Given the description of an element on the screen output the (x, y) to click on. 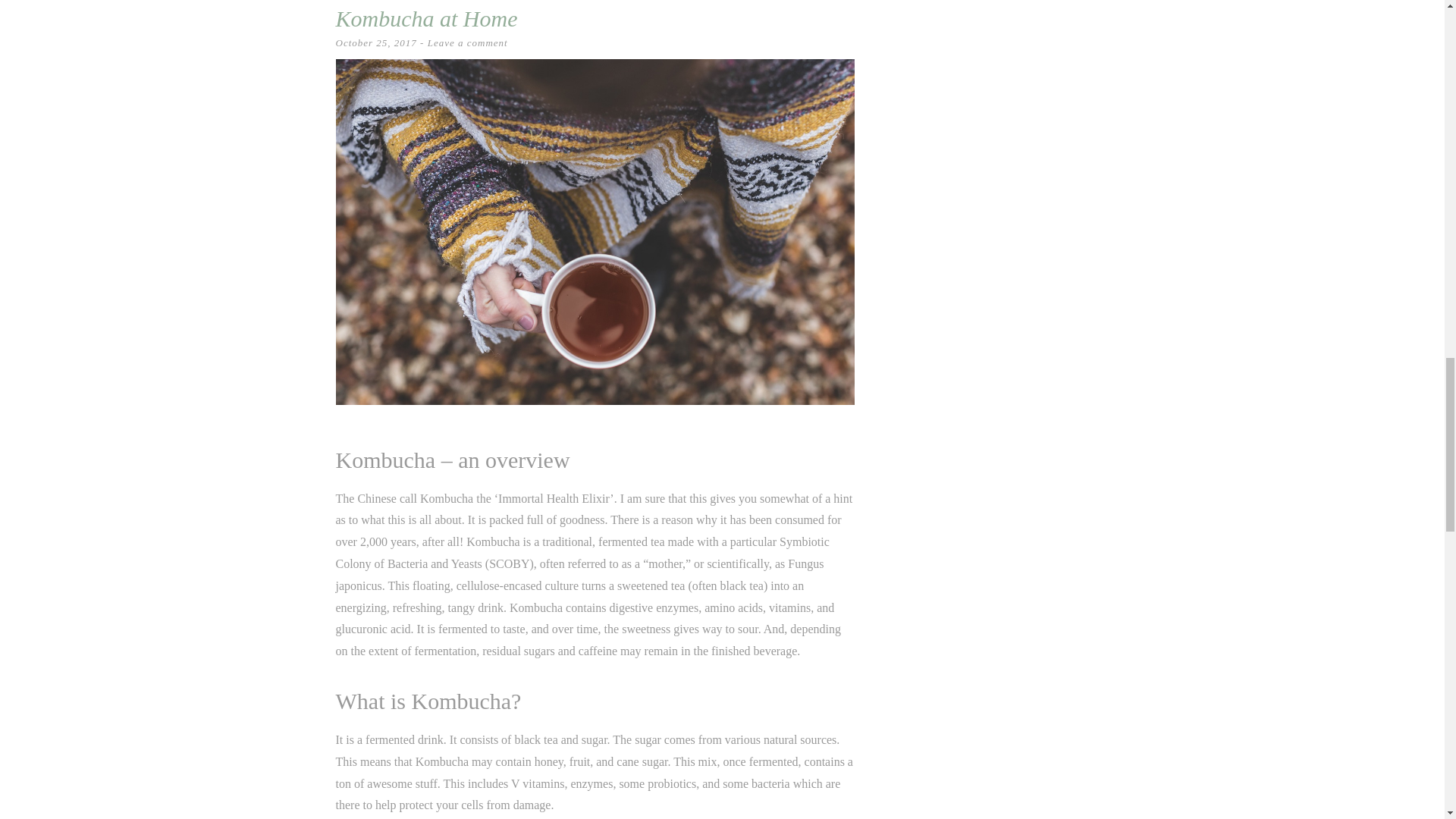
Leave a comment (468, 42)
Kombucha at Home (425, 18)
October 25, 2017 (375, 42)
